Given the description of an element on the screen output the (x, y) to click on. 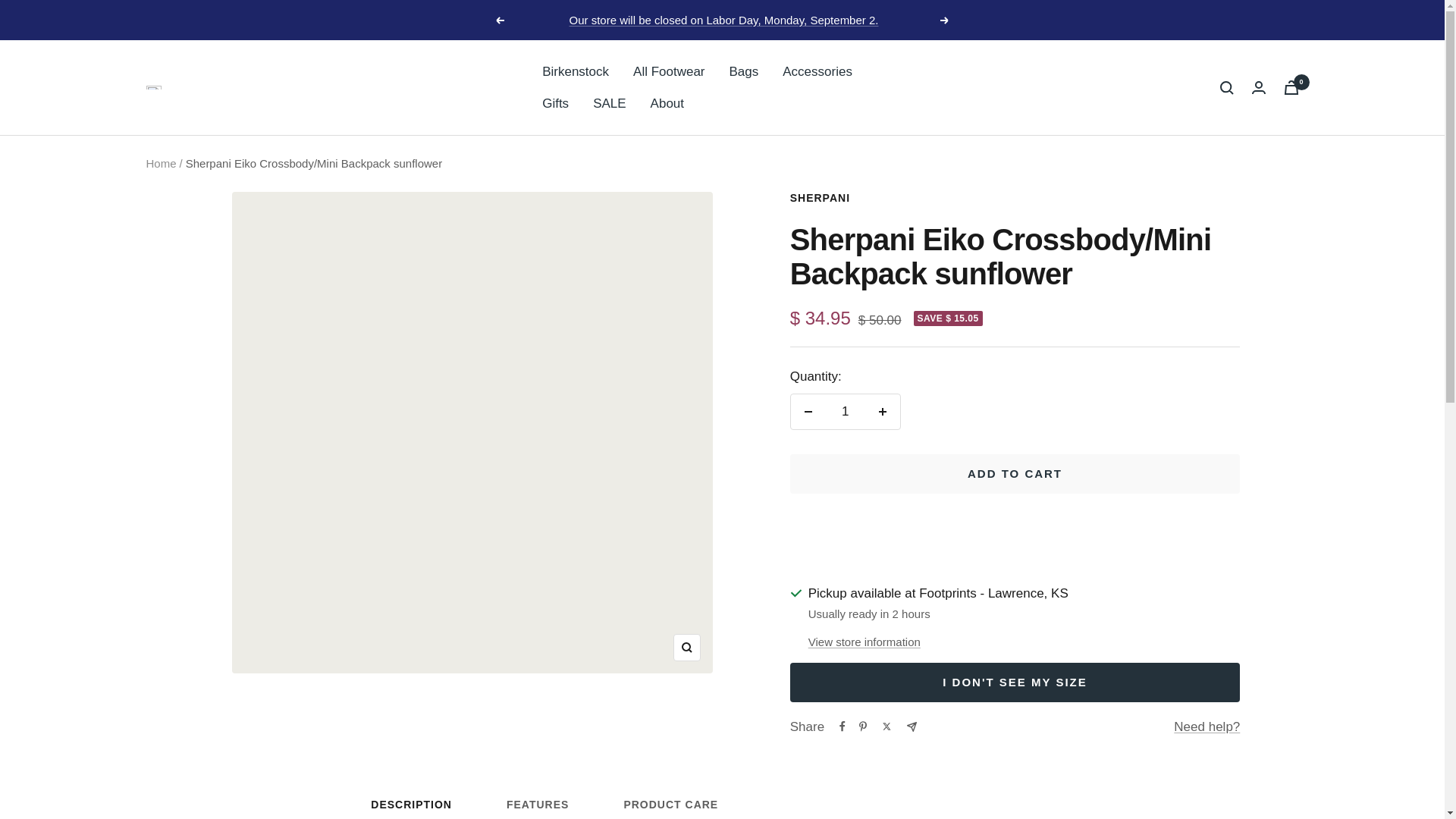
About (667, 103)
Gifts (722, 808)
Next (555, 103)
Our store will be closed on Labor Day, Monday, September 2. (944, 20)
SALE (723, 19)
Birkenstock (609, 103)
Accessories (574, 71)
Footprints Lawrence (817, 71)
